Given the description of an element on the screen output the (x, y) to click on. 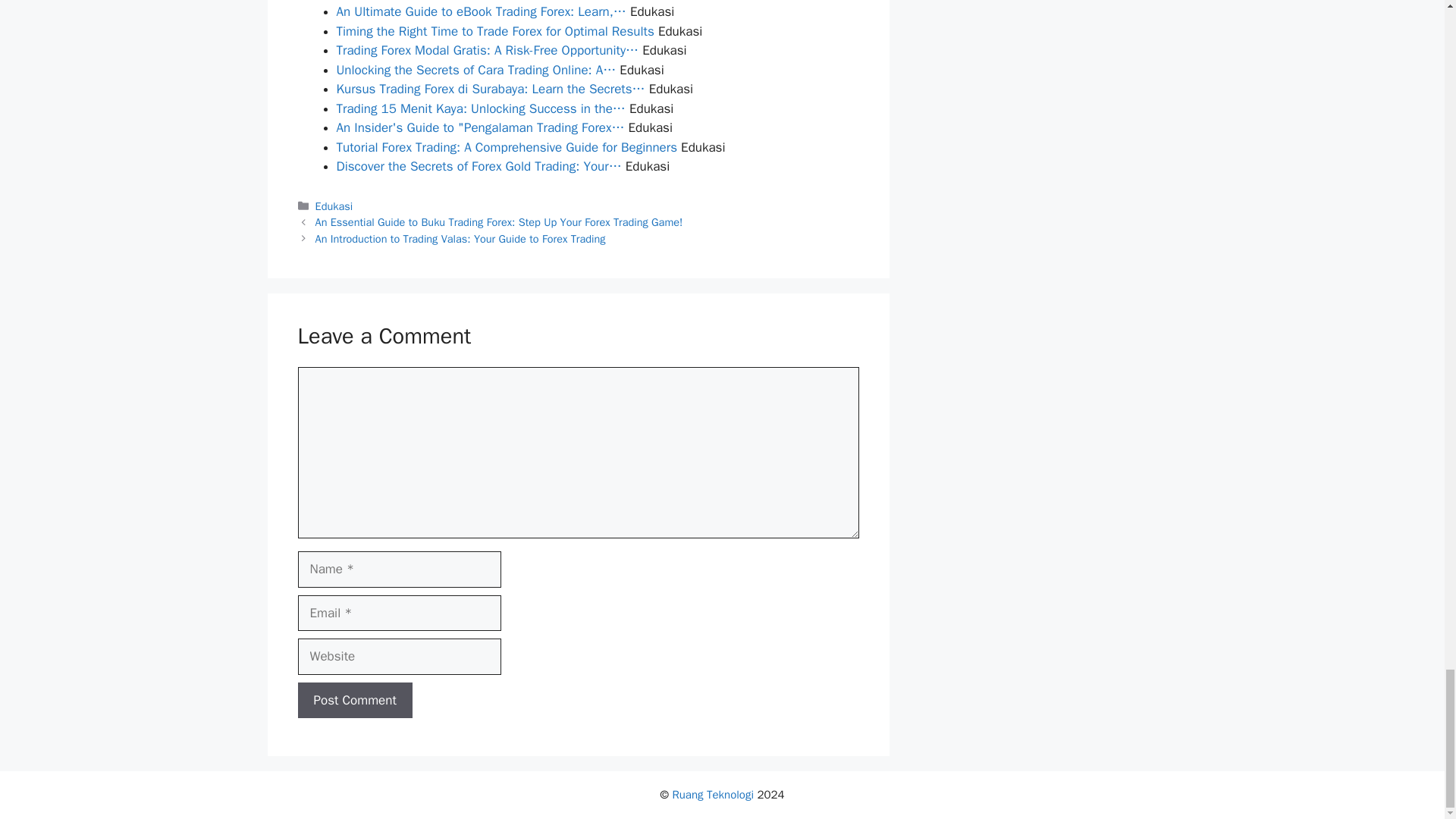
Post Comment (354, 700)
